Given the description of an element on the screen output the (x, y) to click on. 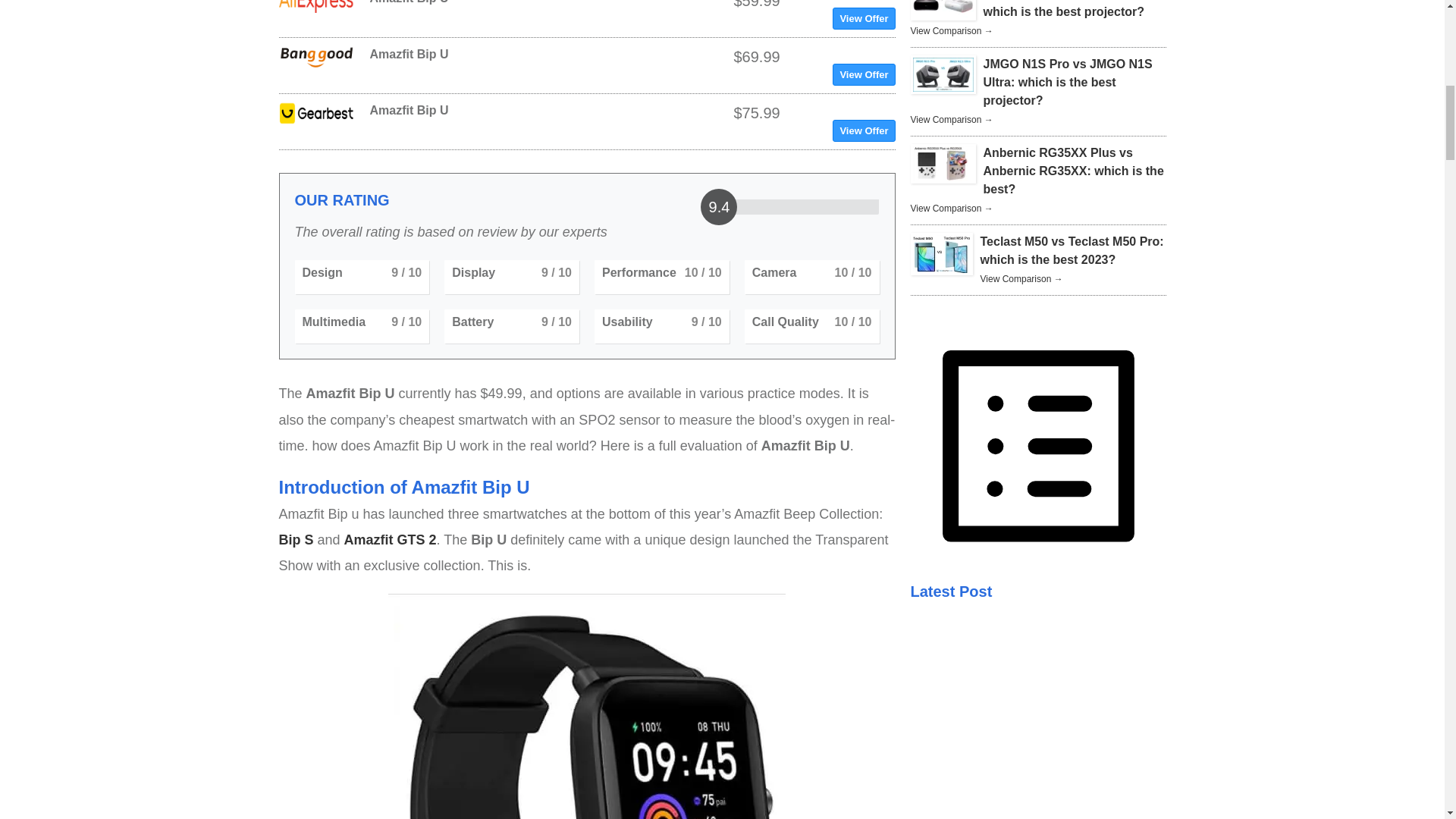
View Offer (863, 74)
View Offer (863, 18)
View Offer (863, 130)
